Given the description of an element on the screen output the (x, y) to click on. 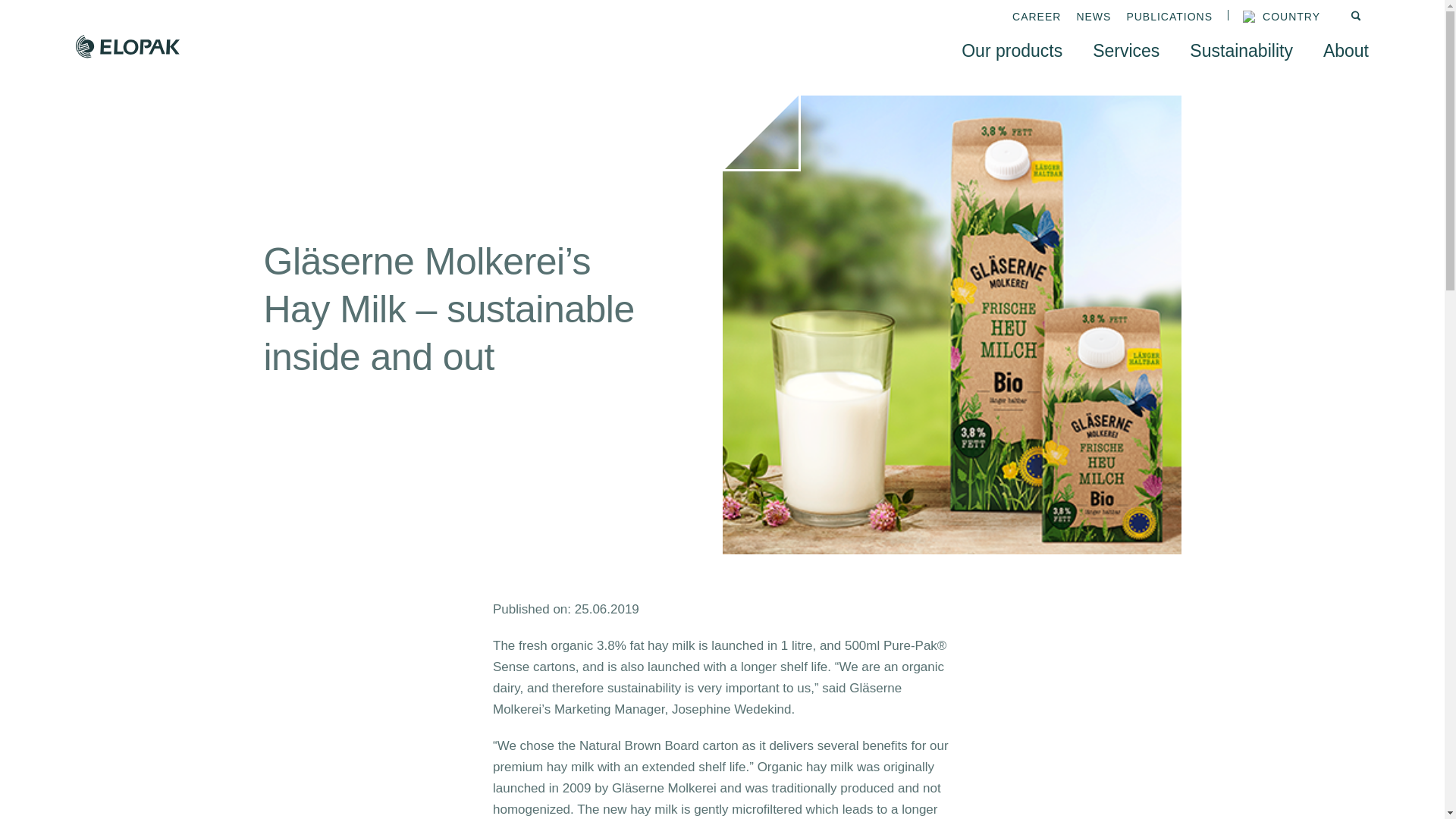
Career (1036, 16)
Our products (1011, 50)
Sustainability (1240, 50)
Publications (1168, 16)
News (1092, 16)
Services (1125, 50)
About (1345, 50)
Search (1359, 16)
